Given the description of an element on the screen output the (x, y) to click on. 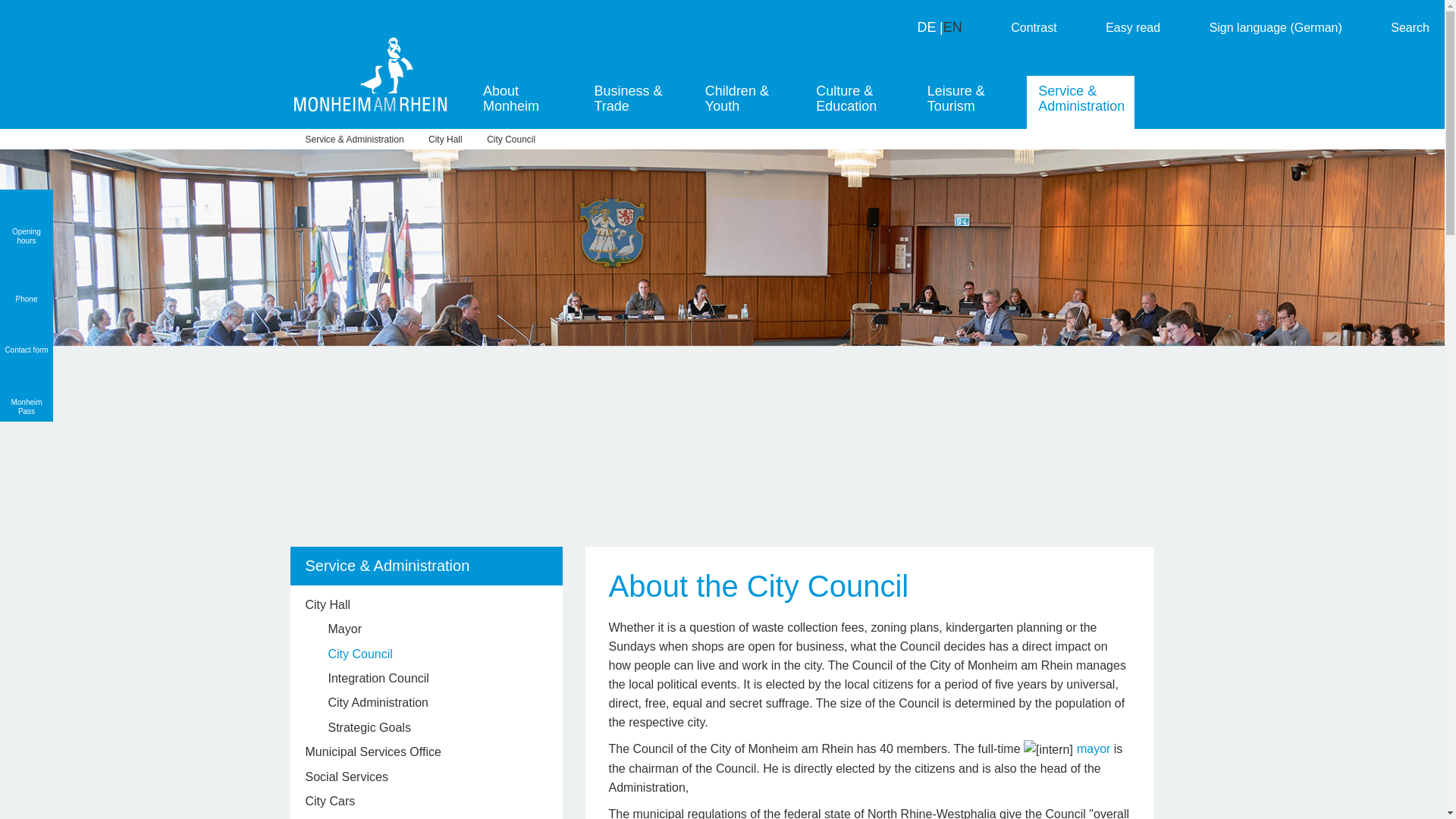
interner Link (1048, 749)
City Council (510, 139)
City Hall (445, 139)
Search Link (1394, 27)
About Monheim (525, 102)
